Given the description of an element on the screen output the (x, y) to click on. 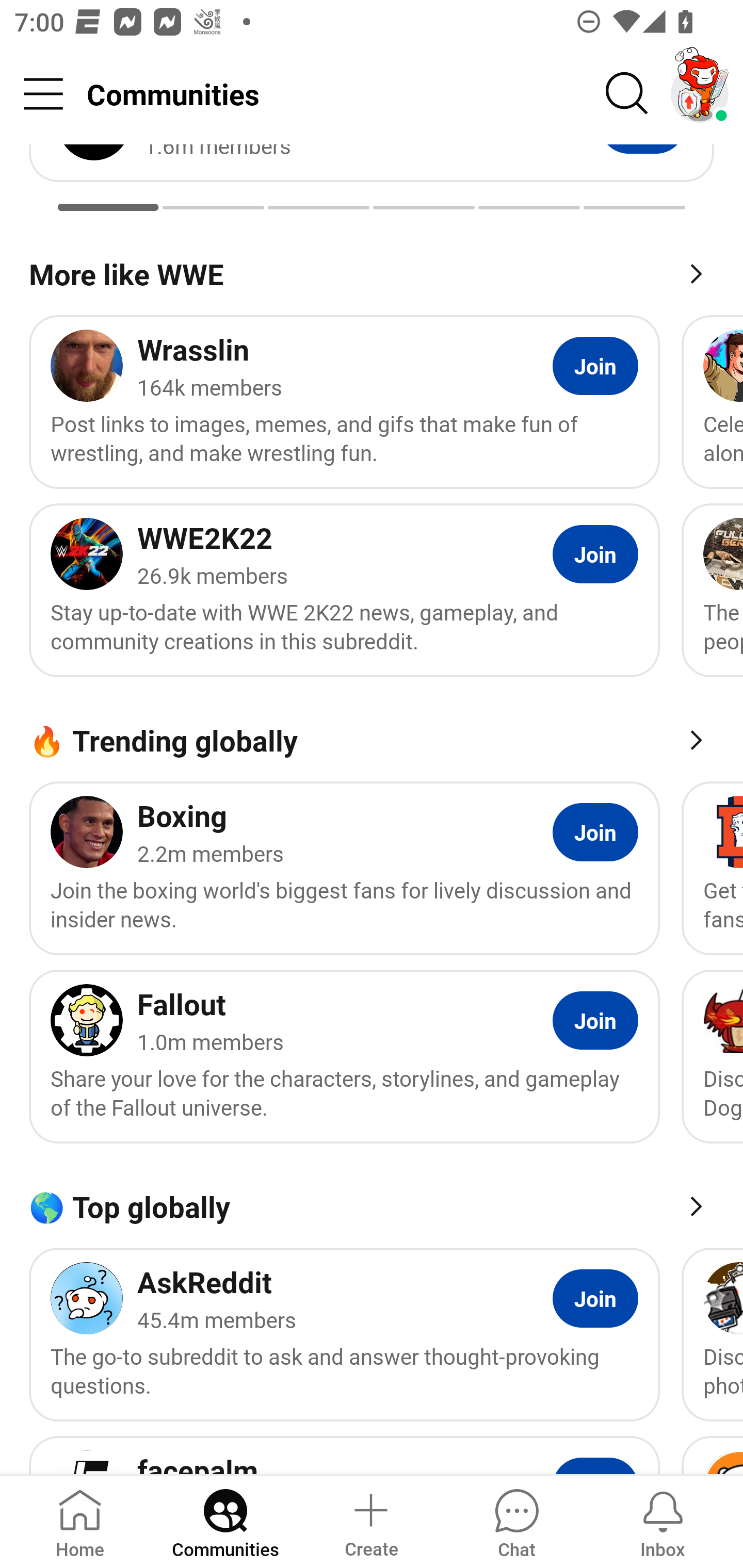
Community menu (43, 93)
Search (626, 93)
TestAppium002 account (699, 93)
More like WWE View more (371, 272)
🔥 Trending globally View more (371, 738)
🌎 Top globally View more (371, 1205)
Home (80, 1520)
Communities (225, 1520)
Create a post Create (370, 1520)
Chat (516, 1520)
Inbox (662, 1520)
